Given the description of an element on the screen output the (x, y) to click on. 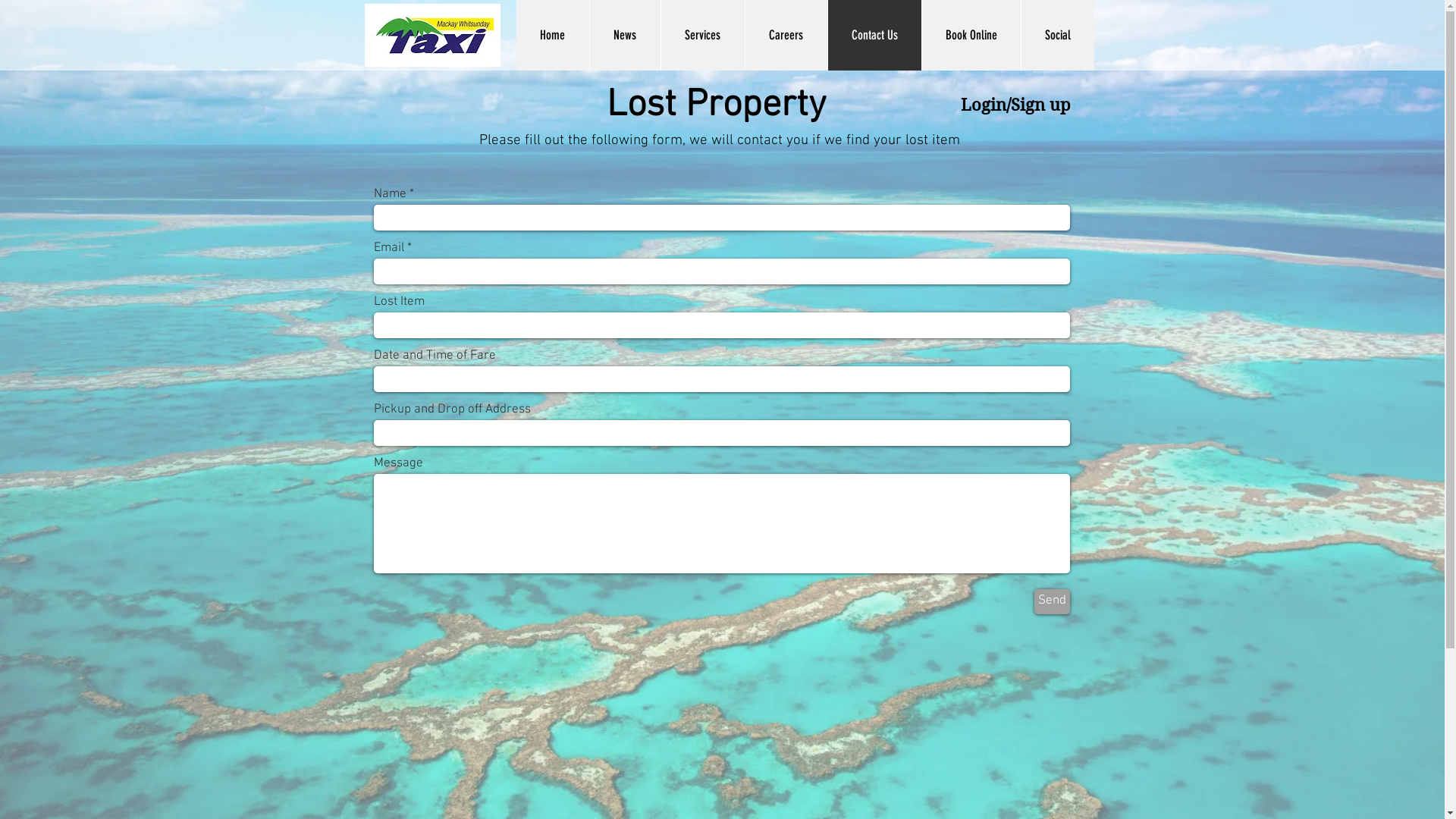
Send Element type: text (1052, 601)
Mackay Whitsunday Taxi Logo.jpg Element type: hover (431, 34)
Login/Sign up Element type: text (1015, 104)
Contact Us Element type: text (873, 35)
Social Element type: text (1057, 35)
Book Online Element type: text (969, 35)
Careers Element type: text (785, 35)
News Element type: text (623, 35)
Services Element type: text (701, 35)
Home Element type: text (551, 35)
